Given the description of an element on the screen output the (x, y) to click on. 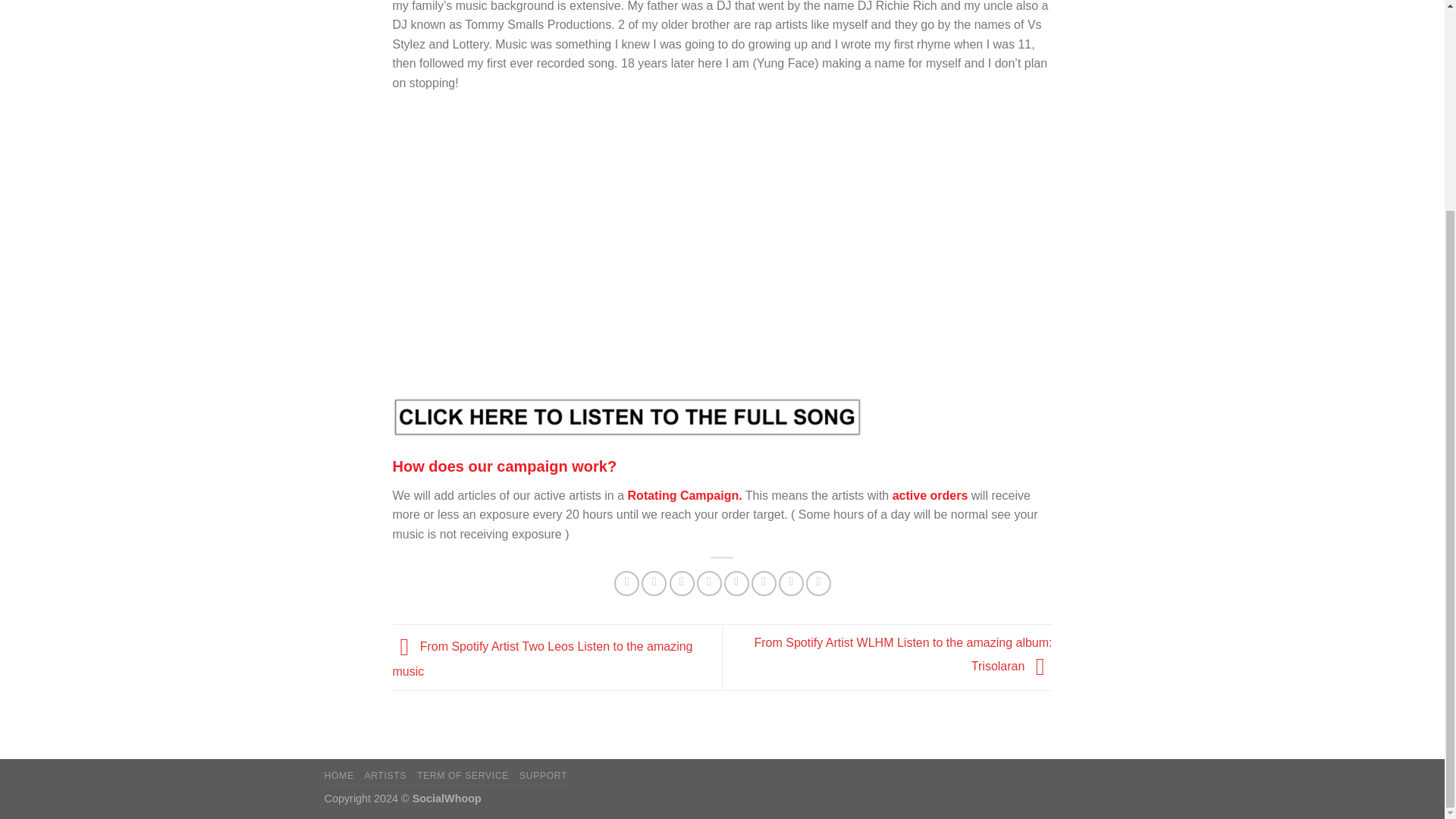
Share on Tumblr (790, 583)
HOME (338, 775)
Share on LinkedIn (763, 583)
Email to a Friend (681, 583)
TERM OF SERVICE (462, 775)
Share on VKontakte (736, 583)
Share on Telegram (818, 583)
Rotating Campaign. (683, 495)
ARTISTS (385, 775)
